Given the description of an element on the screen output the (x, y) to click on. 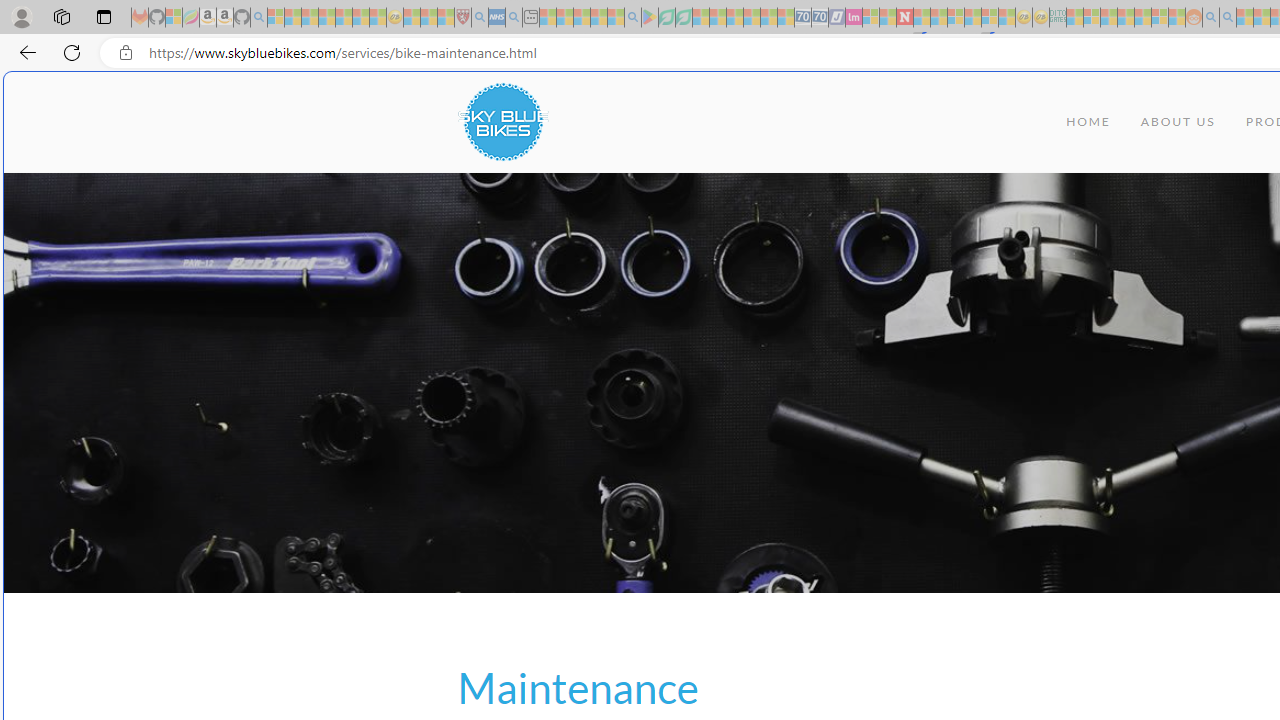
Expert Portfolios - Sleeping (1125, 17)
Bluey: Let's Play! - Apps on Google Play - Sleeping (649, 17)
Trusted Community Engagement and Contributions | Guidelines (921, 17)
HOME (1088, 122)
NCL Adult Asthma Inhaler Choice Guideline - Sleeping (497, 17)
Class: uk-navbar-item uk-logo (502, 122)
Microsoft account | Privacy - Sleeping (1091, 17)
14 Common Myths Debunked By Scientific Facts - Sleeping (938, 17)
Utah sues federal government - Search - Sleeping (1227, 17)
New tab - Sleeping (530, 17)
